Given the description of an element on the screen output the (x, y) to click on. 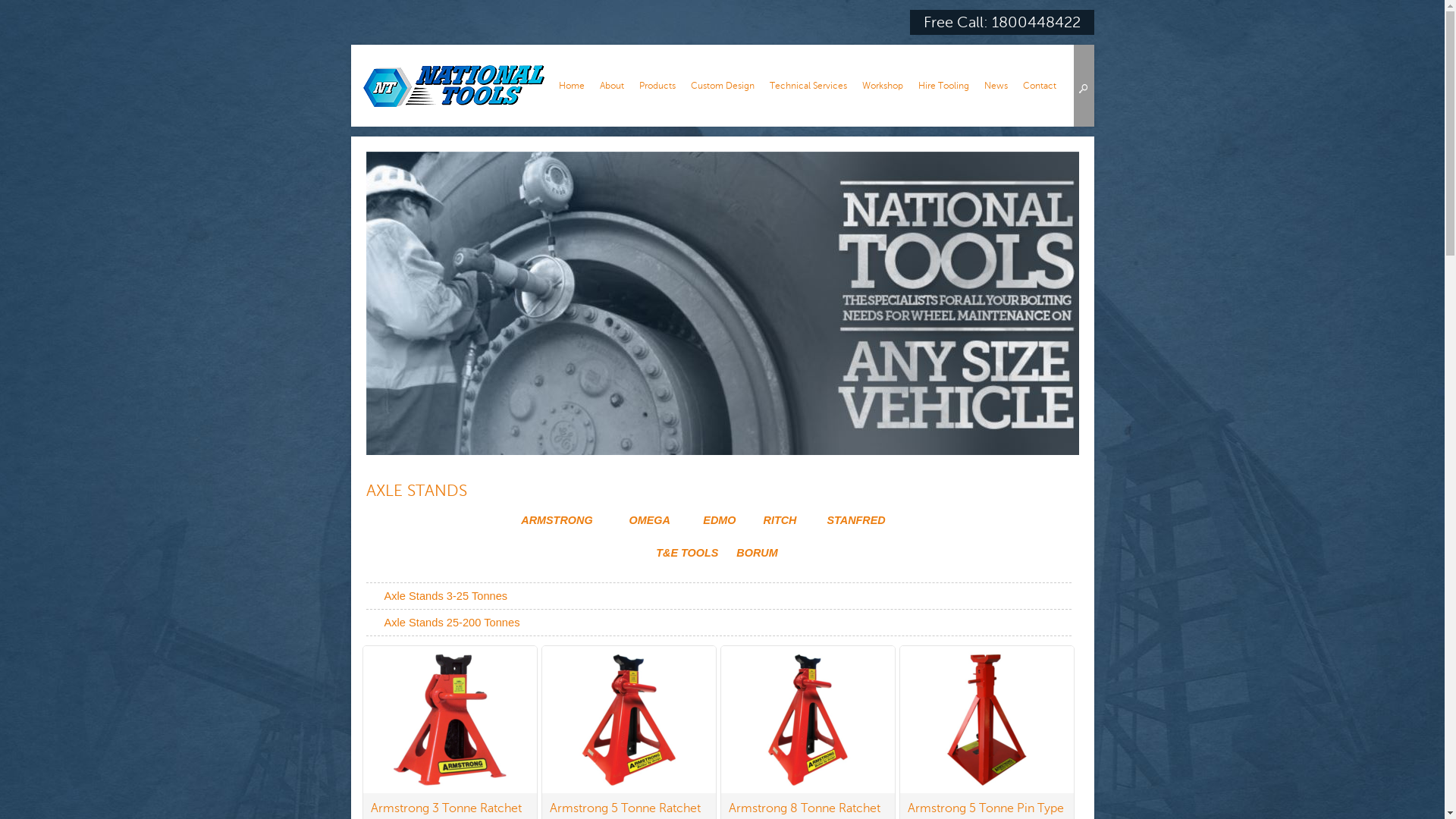
Home Element type: text (570, 85)
Products Element type: text (656, 85)
Contact Element type: text (1038, 85)
Axle Stands 3-25 Tonnes Element type: text (717, 595)
About Element type: text (611, 85)
News Element type: text (995, 85)
Axle Stands 25-200 Tonnes Element type: text (717, 621)
Workshop Element type: text (881, 85)
Hire Tooling Element type: text (942, 85)
Custom Design Element type: text (721, 85)
Technical Services Element type: text (807, 85)
